Given the description of an element on the screen output the (x, y) to click on. 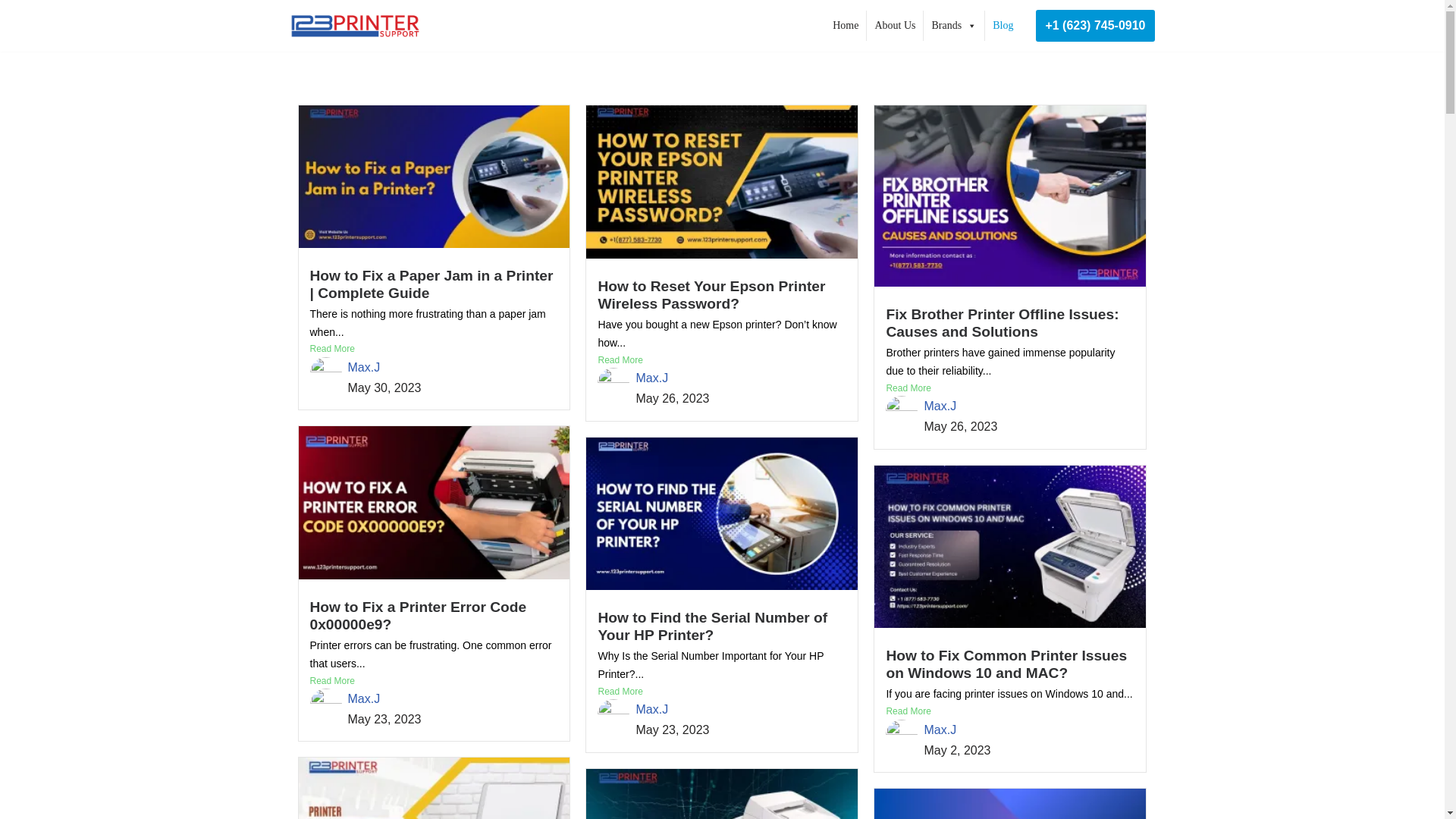
Fix Brother Printer Offline Issues: Causes and Solutions (1001, 322)
Posts by Max.J (939, 729)
How to Reset Your Epson Printer Wireless Password? (710, 295)
Max.J (363, 367)
How to Fix a Printer Error Code 0x00000e9? (416, 615)
Posts by Max.J (651, 708)
How to Reset Your Epson Printer Wireless Password? (710, 295)
Fix Brother Printer Offline Issues: Causes and Solutions (1001, 322)
Posts by Max.J (939, 405)
Read More (432, 348)
123printersupport (354, 25)
How to Find the Serial Number of Your HP Printer? (711, 625)
Blog (1002, 25)
Home (845, 25)
Brands (953, 25)
